Given the description of an element on the screen output the (x, y) to click on. 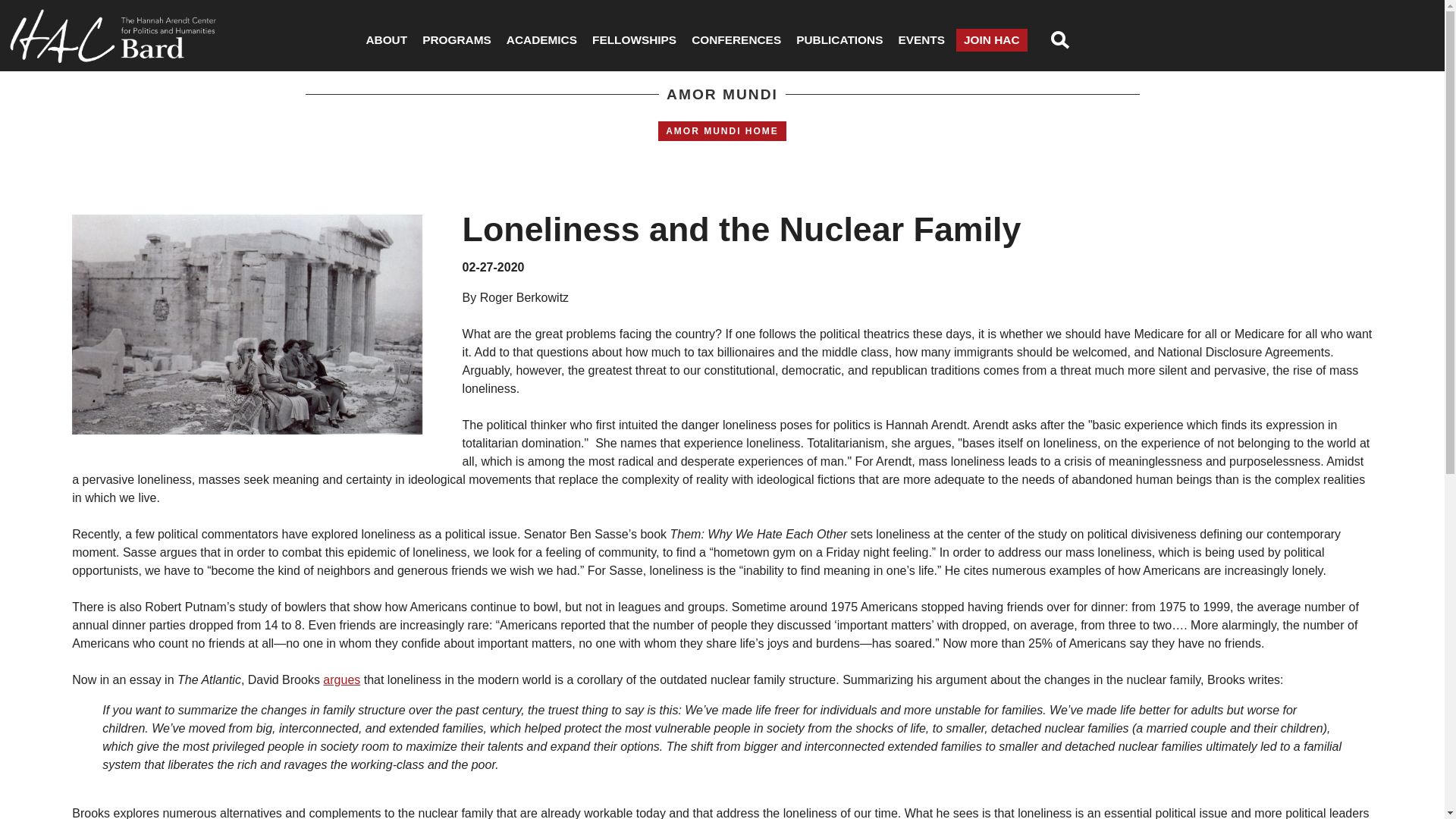
ABOUT (386, 39)
PROGRAMS (456, 39)
FELLOWSHIPS (634, 39)
ACADEMICS (542, 39)
